Given the description of an element on the screen output the (x, y) to click on. 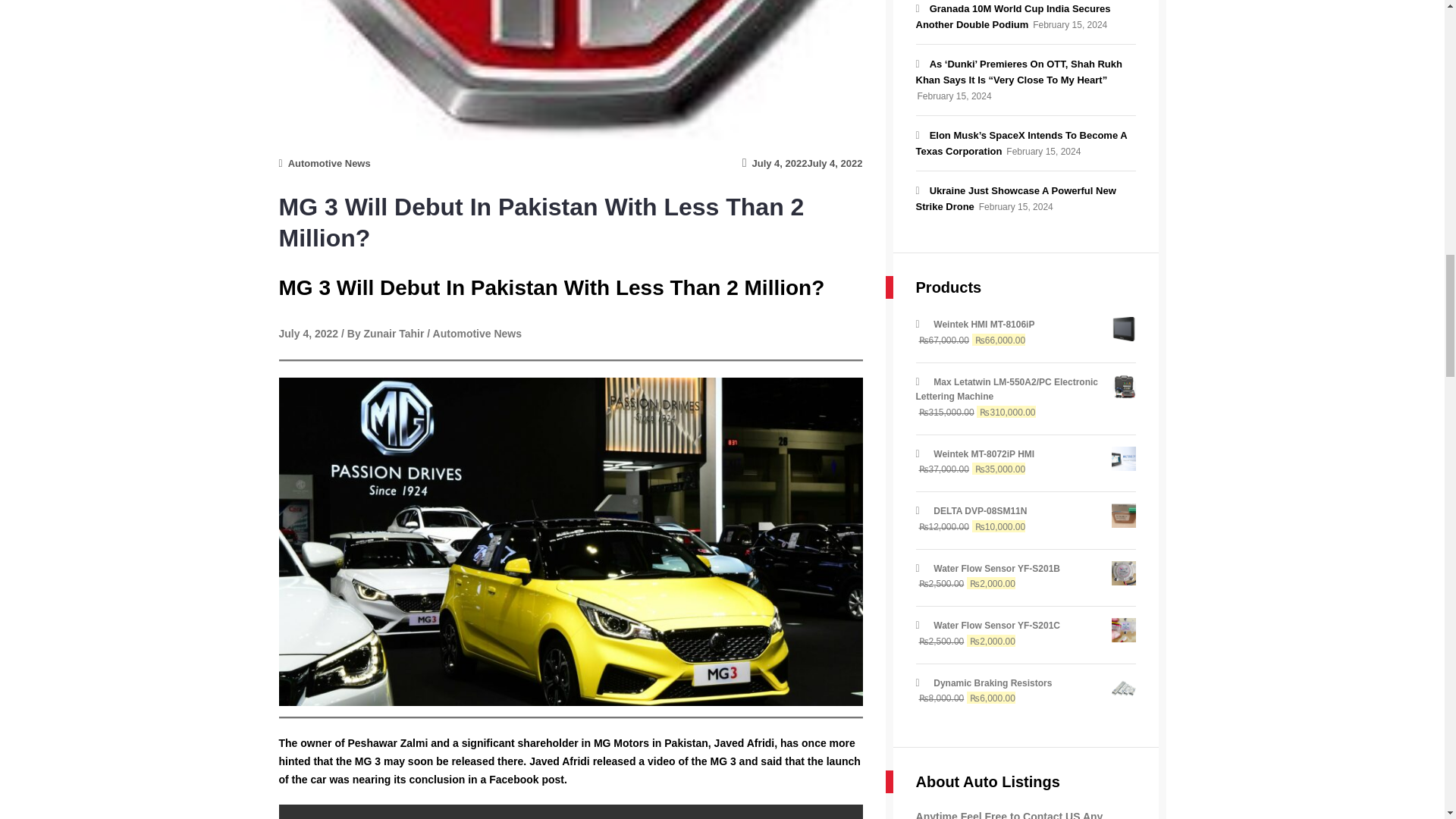
Automotive News (329, 163)
July 4, 2022July 4, 2022 (802, 163)
